Given the description of an element on the screen output the (x, y) to click on. 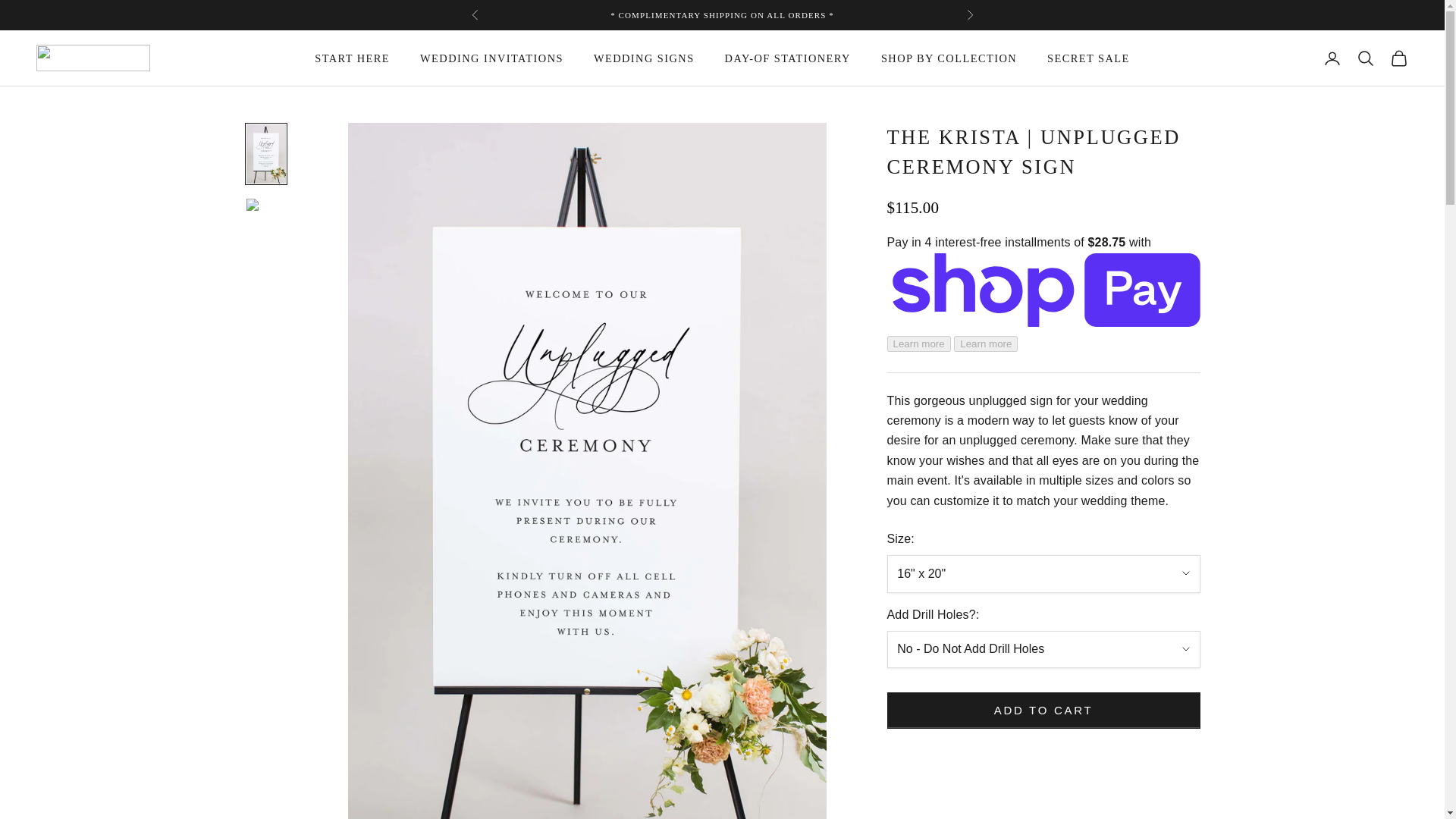
START HERE (352, 58)
Next (968, 15)
Previous (474, 15)
